Given the description of an element on the screen output the (x, y) to click on. 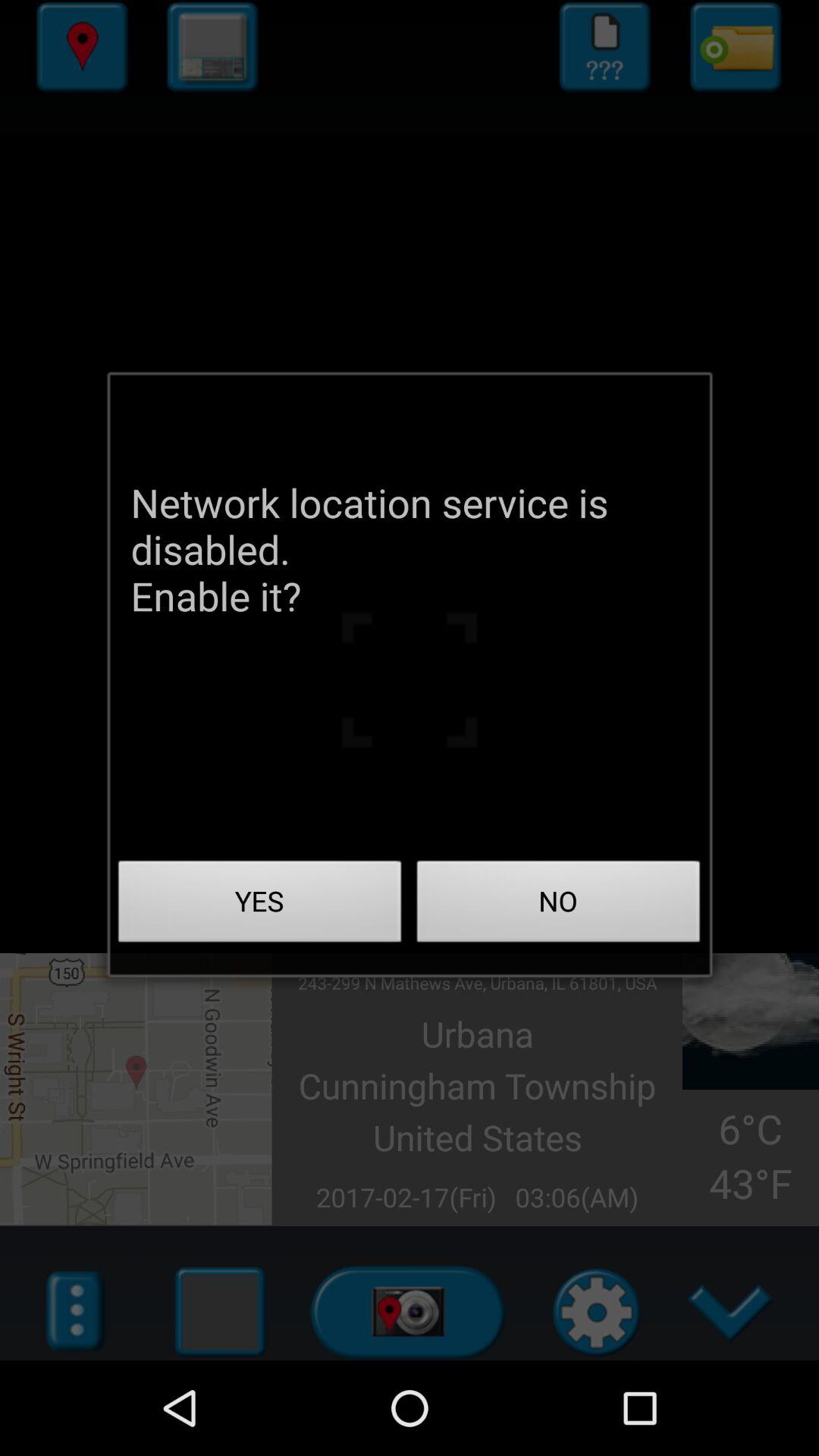
choose no on the right (558, 905)
